Given the description of an element on the screen output the (x, y) to click on. 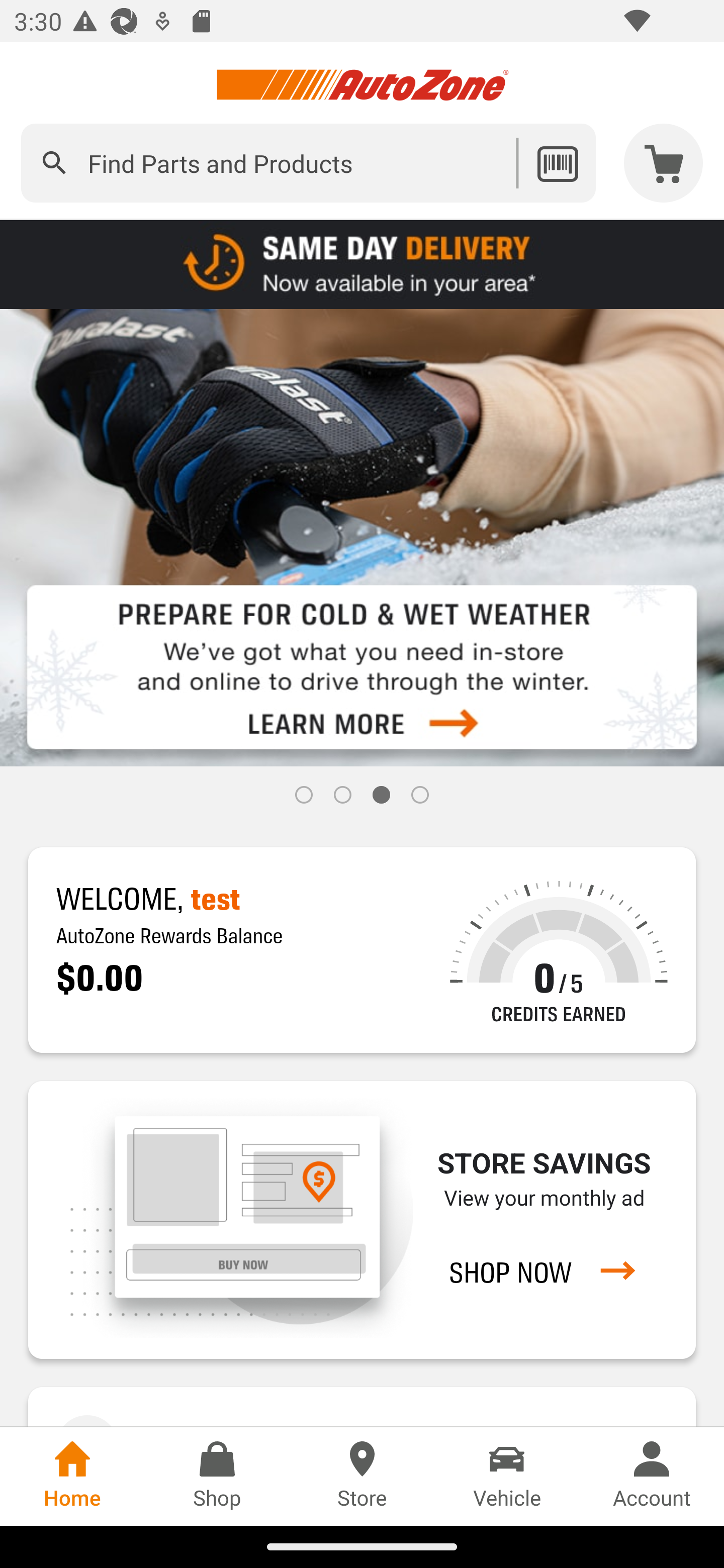
 scan-product-to-search  (557, 162)
 (54, 163)
Cart, no items  (663, 162)
Same Day Delivery - now available in your area* (362, 262)
Home (72, 1475)
Shop (216, 1475)
Store (361, 1475)
Vehicle (506, 1475)
Account (651, 1475)
